Given the description of an element on the screen output the (x, y) to click on. 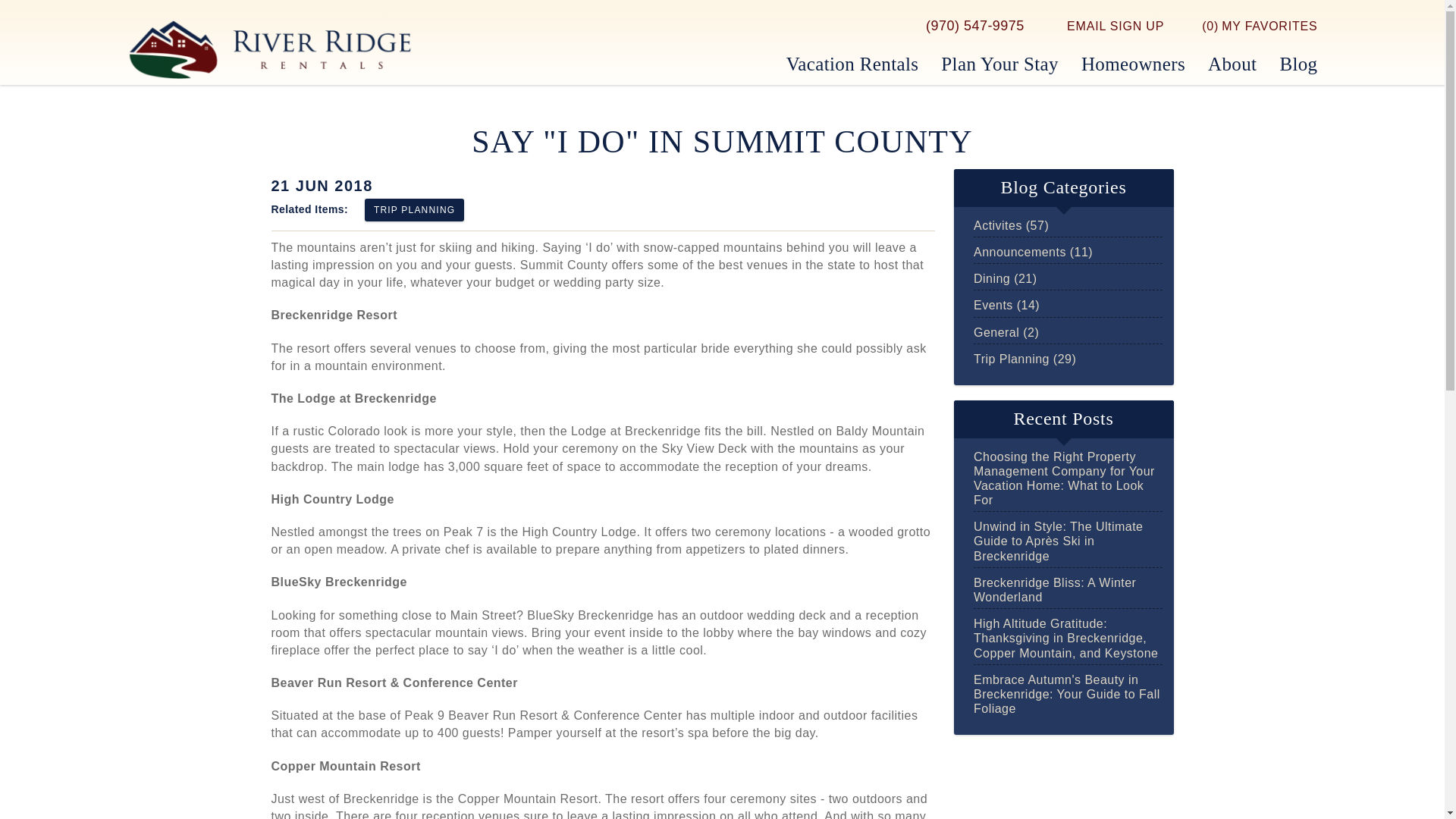
Homeowners (1133, 65)
Plan Your Stay (1000, 65)
Vacation Rentals (852, 65)
EMAIL SIGN UP (1104, 26)
Home (270, 47)
About (1232, 65)
